Given the description of an element on the screen output the (x, y) to click on. 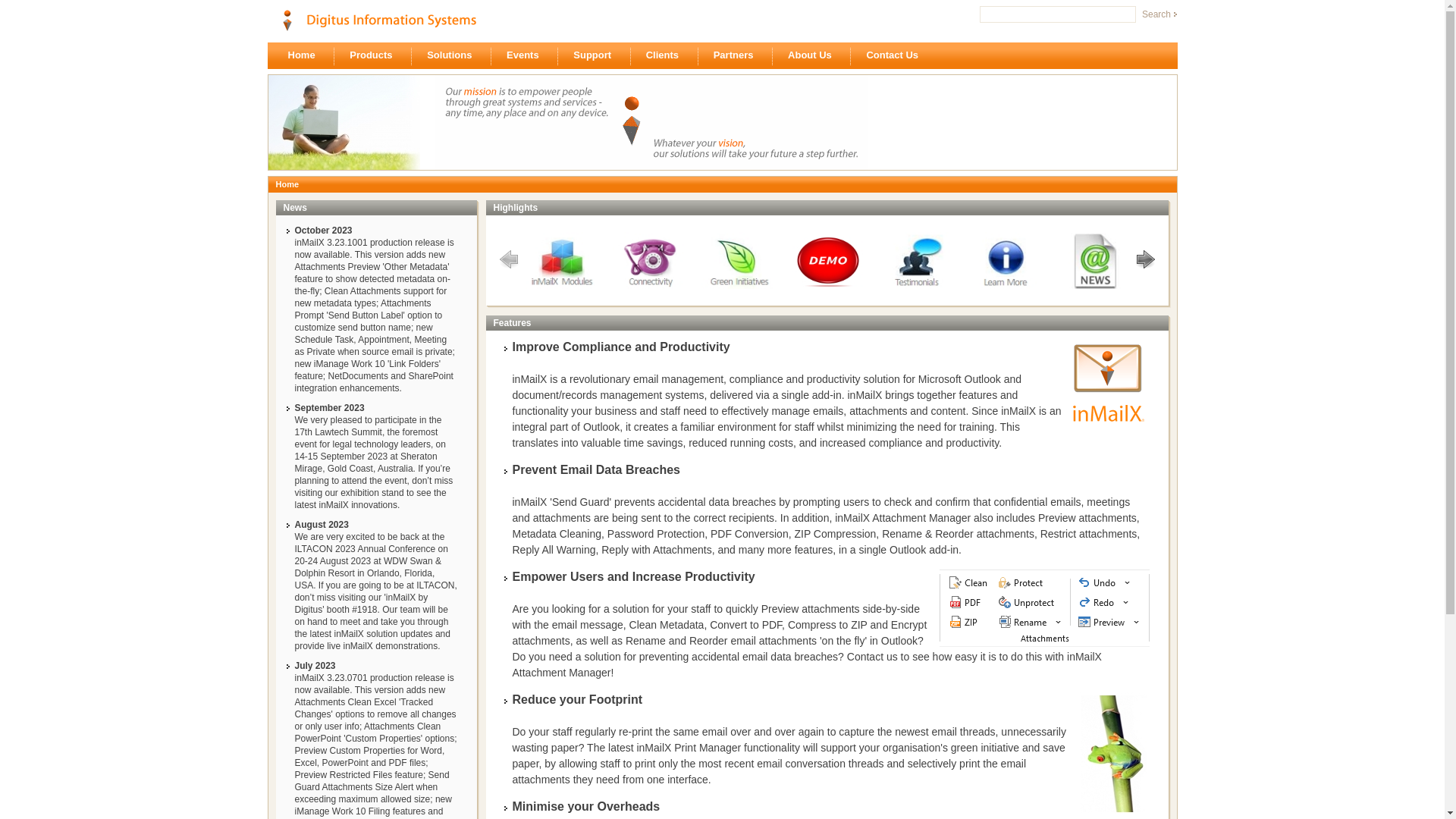
Contact Us Element type: text (896, 54)
Products Element type: text (375, 54)
Search Element type: text (1157, 14)
Empower Users and Increase Productivity Element type: text (633, 576)
Partners Element type: text (737, 54)
Support Element type: text (596, 54)
Home Element type: text (305, 54)
Clients Element type: text (666, 54)
October 2023 Element type: text (322, 230)
Solutions Element type: text (453, 54)
September 2023 Element type: text (329, 407)
About Us Element type: text (814, 54)
Reduce your Footprint Element type: text (577, 699)
Improve Compliance and Productivity Element type: text (621, 346)
inMailX Element type: hover (1107, 386)
News Element type: text (295, 213)
Prevent Email Data Breaches Element type: text (596, 469)
August 2023 Element type: text (321, 524)
Minimise your Overheads Element type: text (586, 806)
July 2023 Element type: text (314, 665)
Events Element type: text (526, 54)
